Given the description of an element on the screen output the (x, y) to click on. 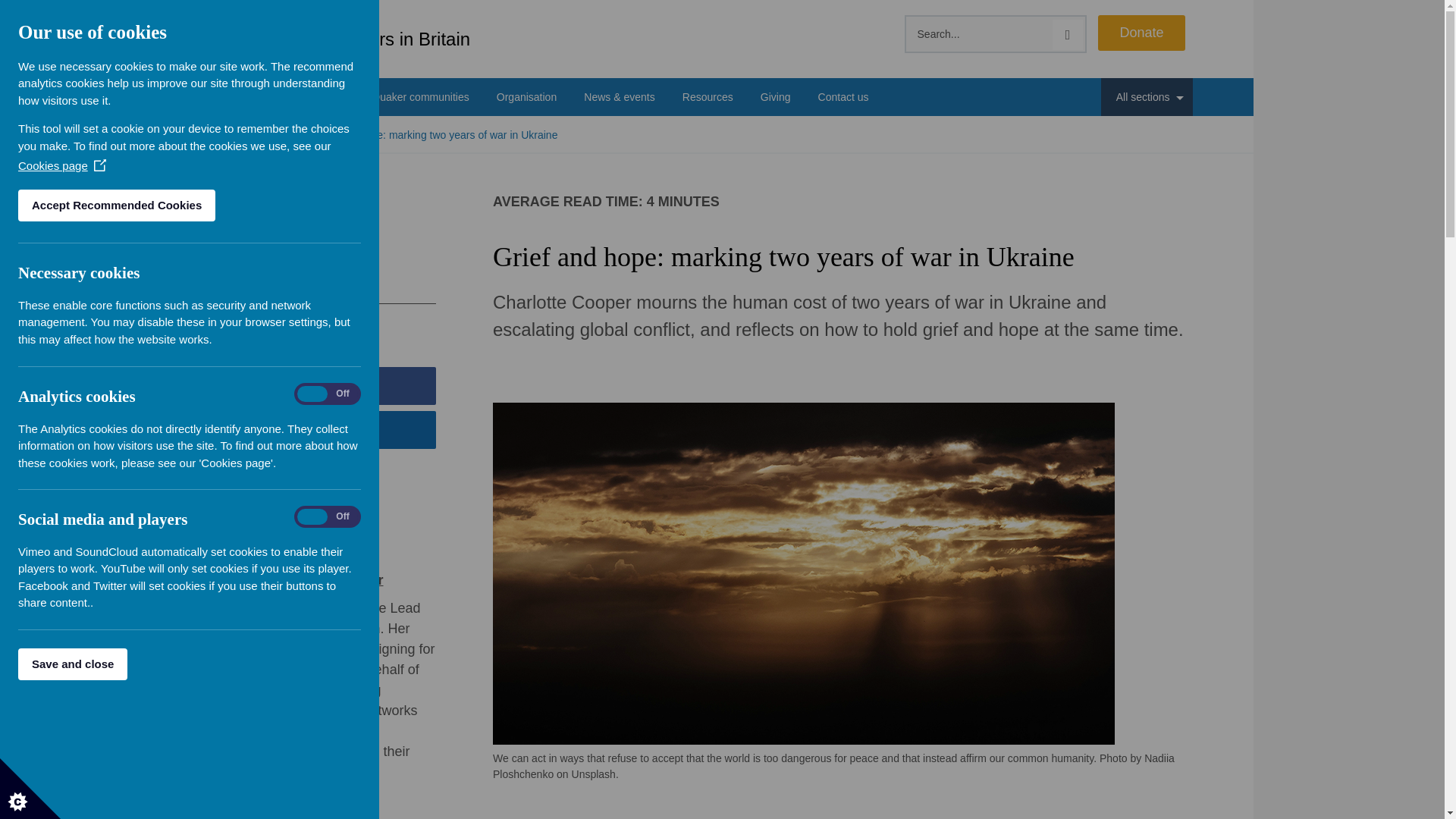
Resources (706, 96)
Action (329, 96)
Faith (274, 96)
Contact us (843, 96)
Quaker communities (419, 96)
Quakers in Britain (360, 38)
Organisation (525, 96)
Cookie Control Icon (30, 788)
Submit search (1067, 34)
All sections (1146, 96)
Giving (775, 96)
Donate (1141, 32)
